Given the description of an element on the screen output the (x, y) to click on. 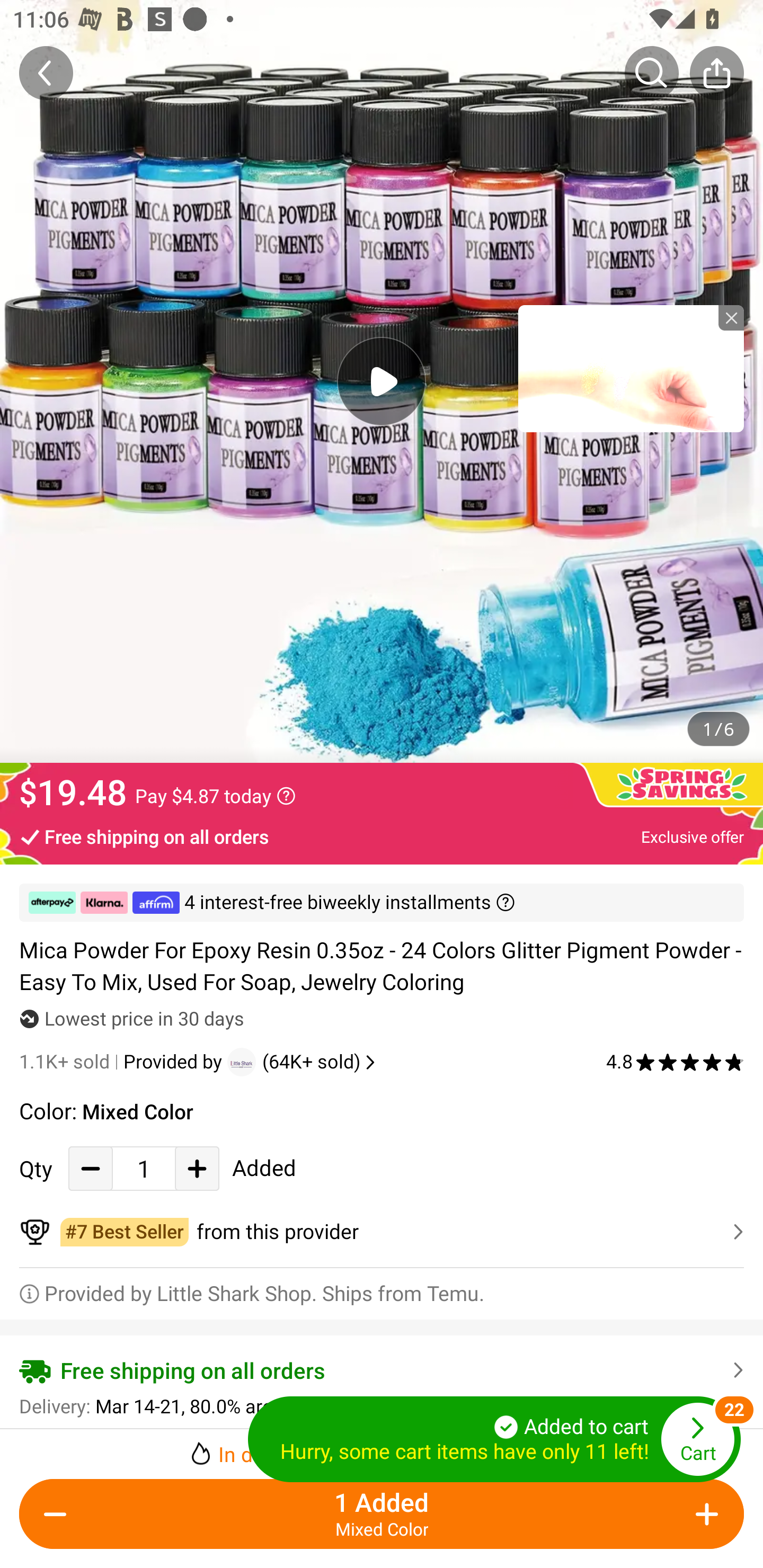
Back (46, 72)
Share (716, 72)
tronplayer_view (631, 368)
Pay $4.87 today   (215, 795)
Free shipping on all orders Exclusive offer (381, 836)
￼ ￼ ￼ 4 interest-free biweekly installments ￼ (381, 902)
4.8 (674, 1061)
Decrease Quantity Button (90, 1168)
1 (143, 1168)
Add Quantity button (196, 1168)
￼￼from this provider (381, 1231)
Decrease Quantity Button (59, 1513)
Add Quantity button (703, 1513)
